Given the description of an element on the screen output the (x, y) to click on. 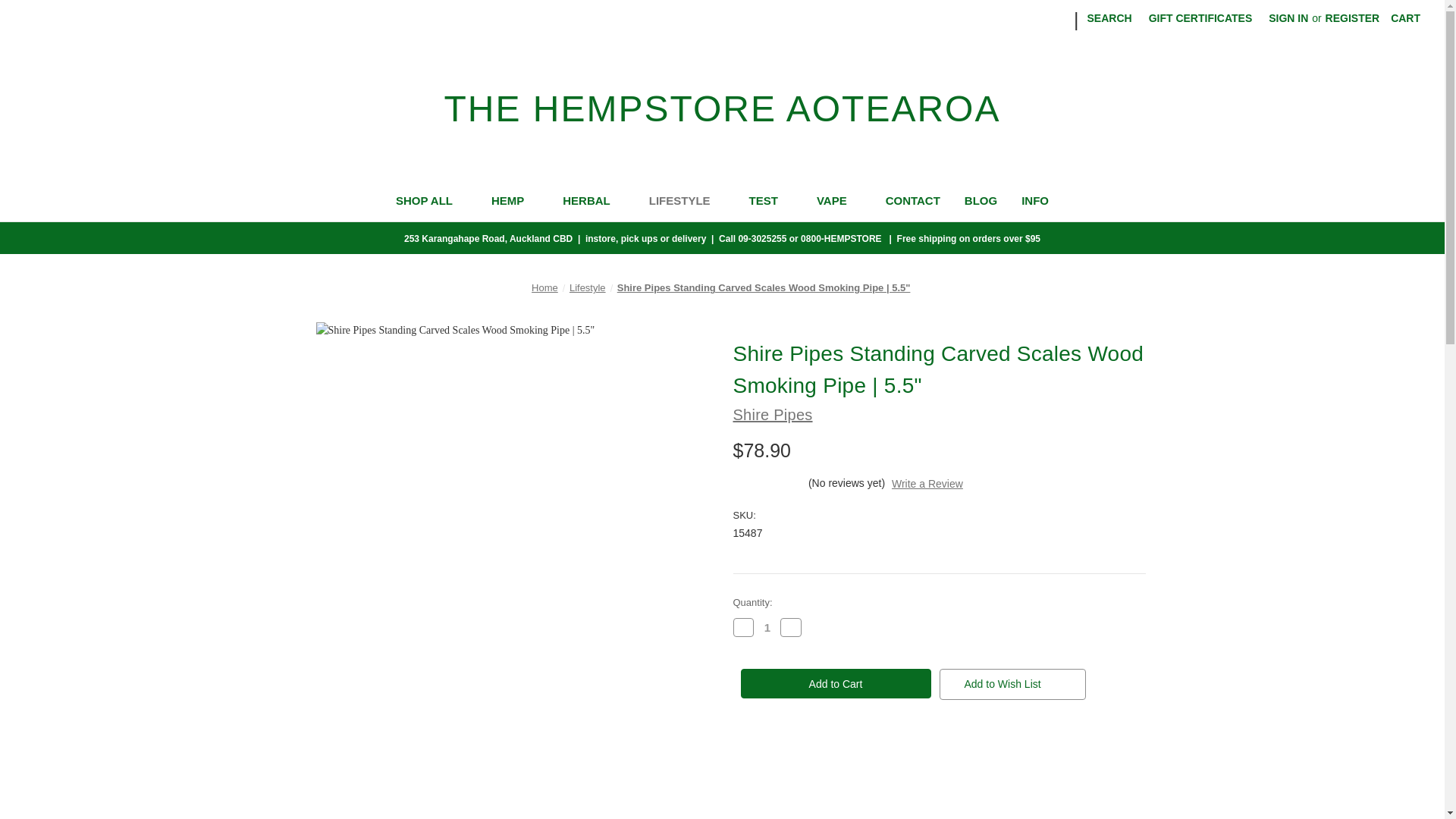
GIFT CERTIFICATES (1200, 18)
Youtube (1060, 20)
1 (767, 626)
Instagram (1033, 20)
SIGN IN (1288, 18)
X (979, 20)
HEMP (514, 202)
SHOP ALL (431, 202)
Facebook (740, 759)
Email (766, 759)
REGISTER (1353, 18)
Print (793, 759)
THE HEMPSTORE AOTEAROA (722, 108)
Facebook (1005, 20)
Pinterest (845, 759)
